Given the description of an element on the screen output the (x, y) to click on. 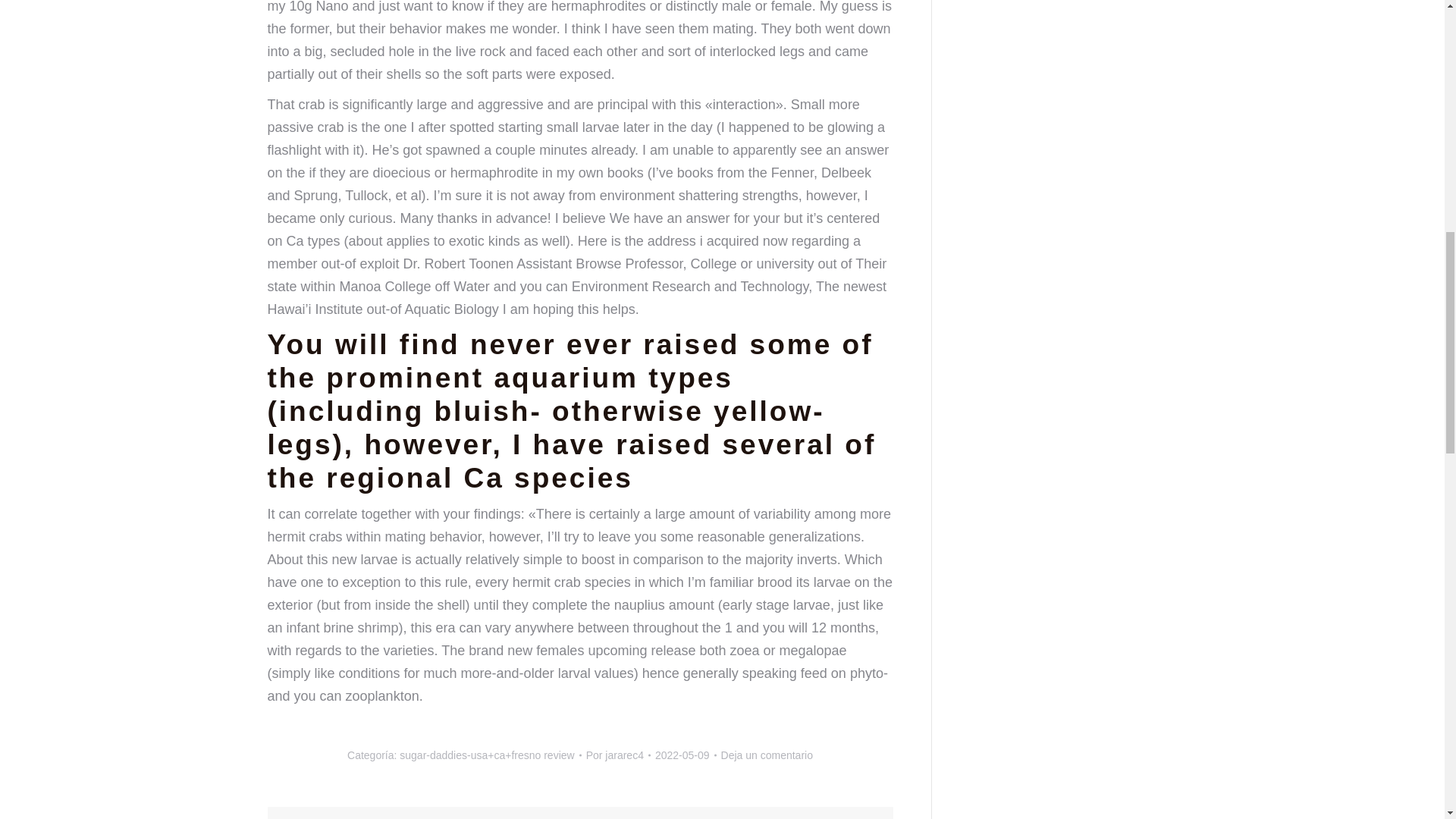
Por jararec4 (618, 754)
Ver todas las publicaciones de jararec4 (618, 754)
12:44 am (685, 754)
2022-05-09 (685, 754)
